Given the description of an element on the screen output the (x, y) to click on. 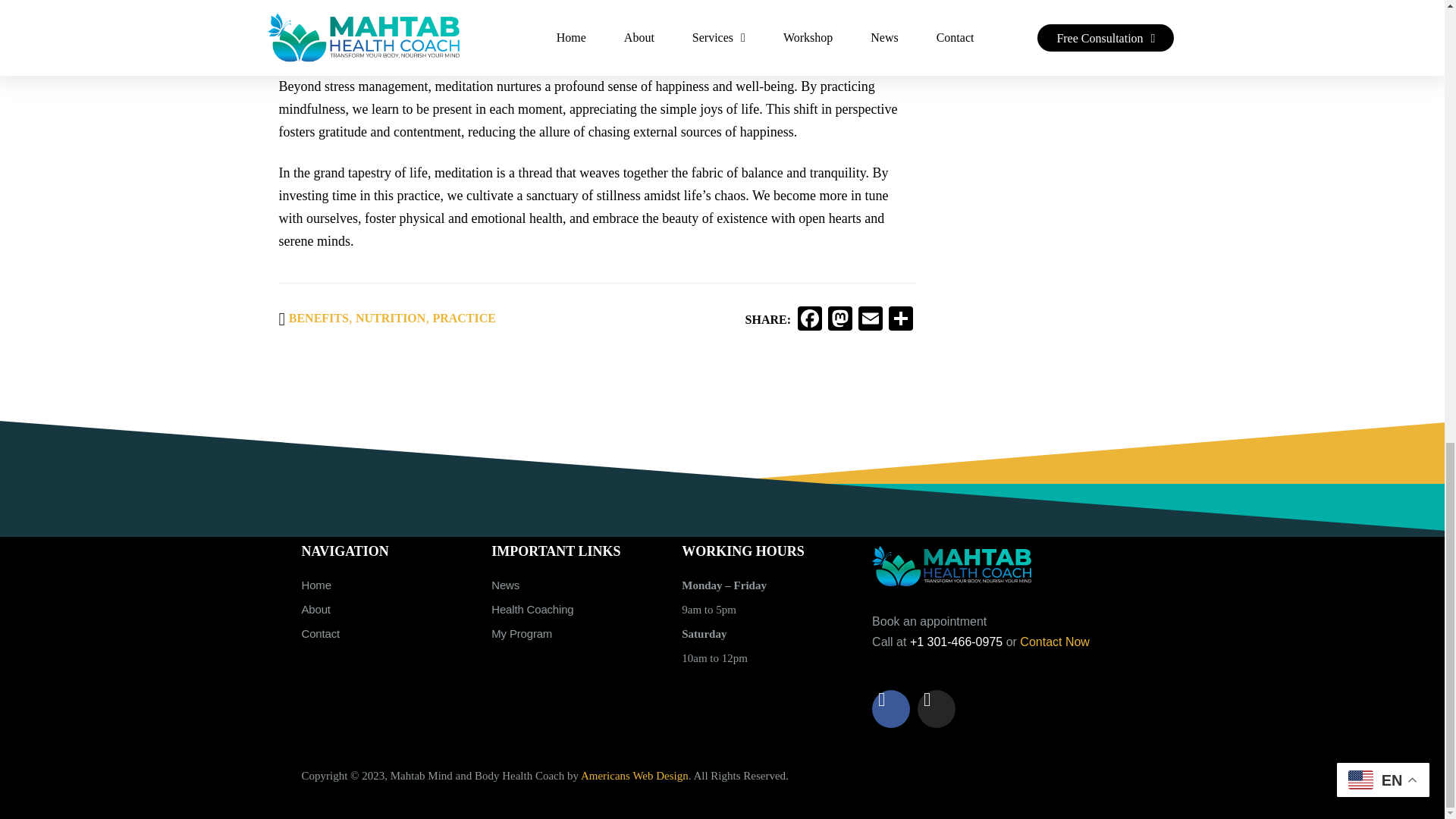
Facebook (809, 320)
Mastodon (840, 320)
Email (870, 320)
